Given the description of an element on the screen output the (x, y) to click on. 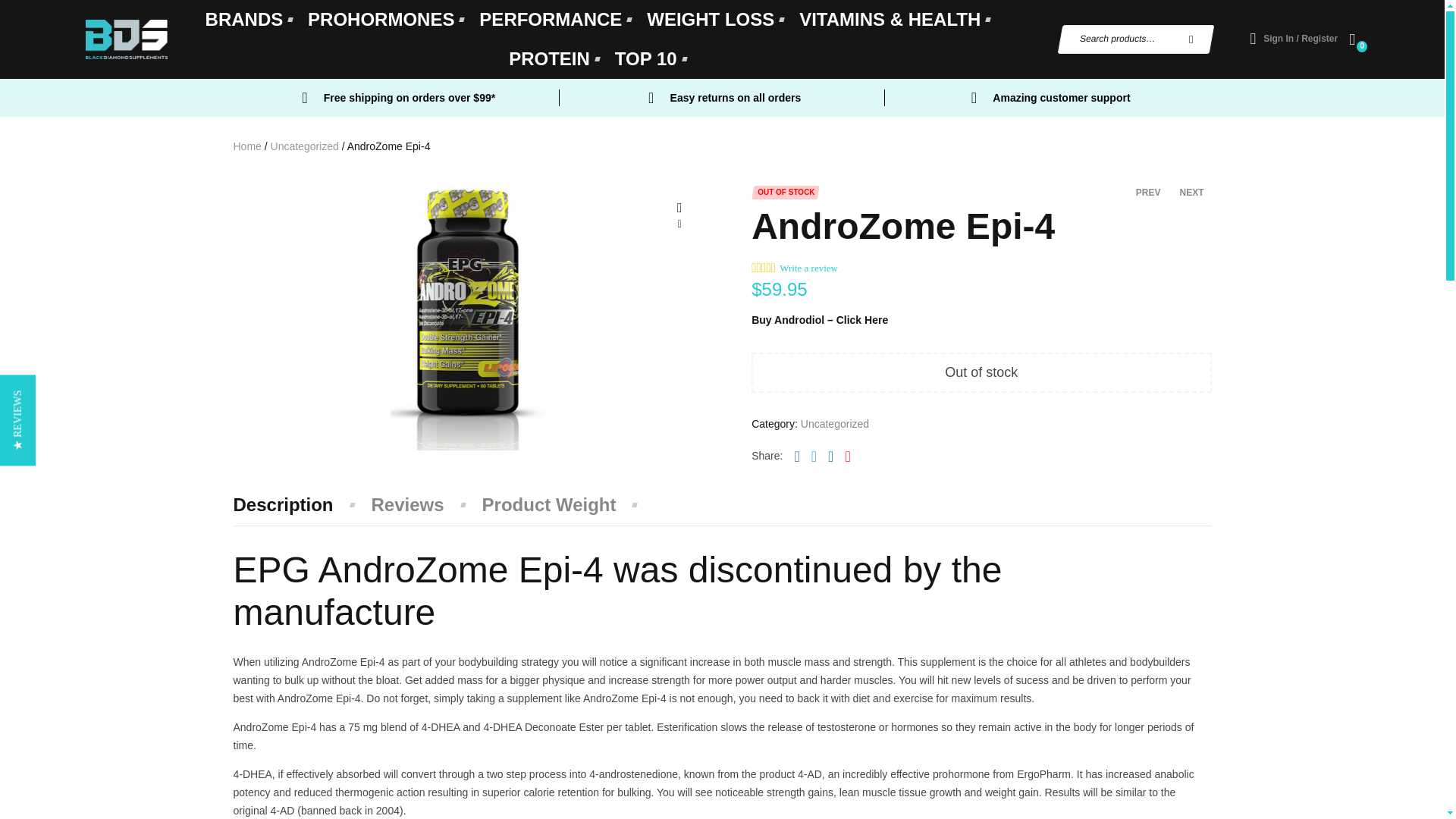
androzome-epi-4 (469, 317)
BRANDS (249, 19)
